Given the description of an element on the screen output the (x, y) to click on. 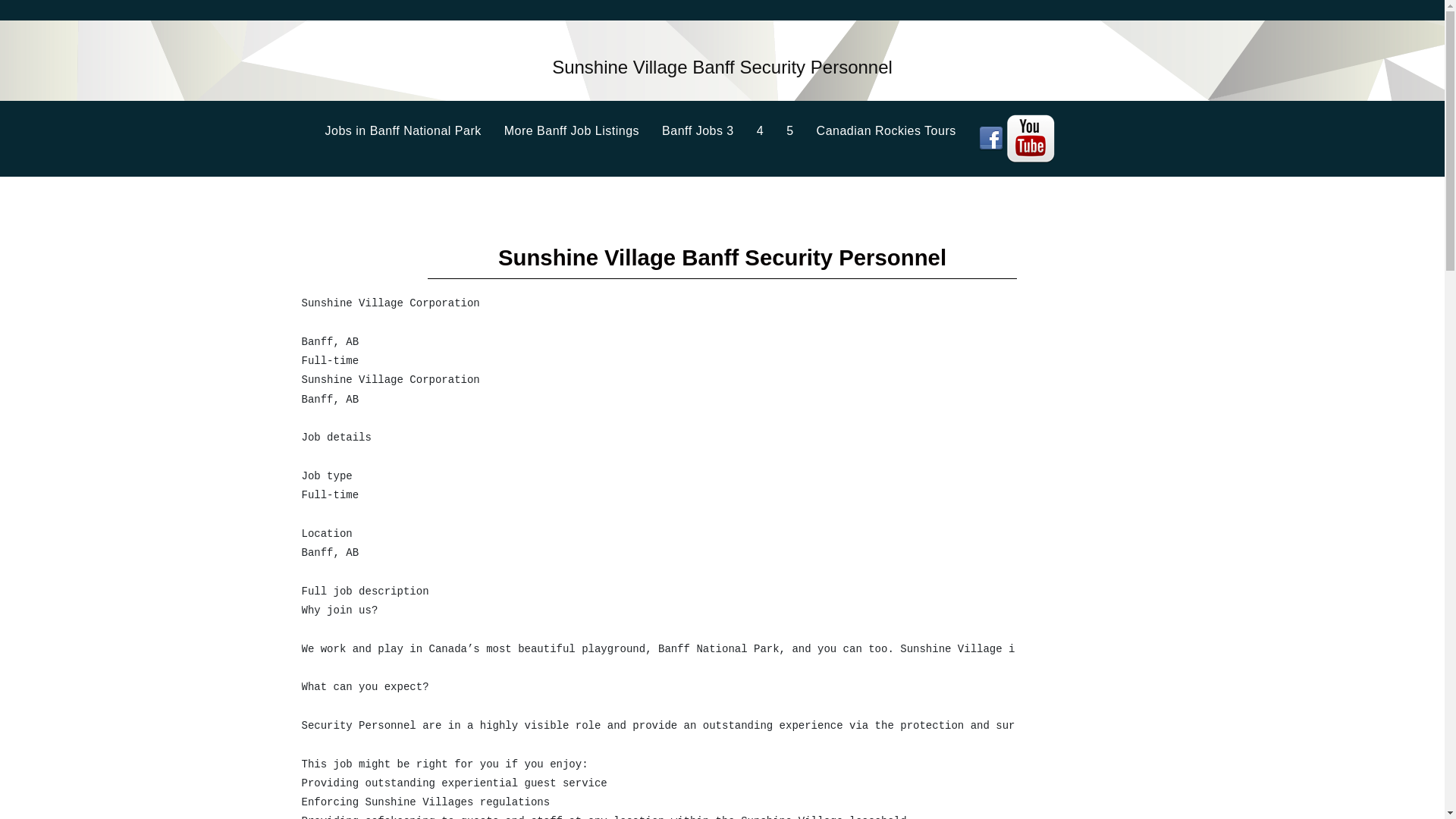
Sunshine Village Banff Security Personnel (721, 70)
More Banff Job Listings (582, 131)
Banff Jobs 3 (709, 131)
Canadian Rockies Tours (897, 131)
